Given the description of an element on the screen output the (x, y) to click on. 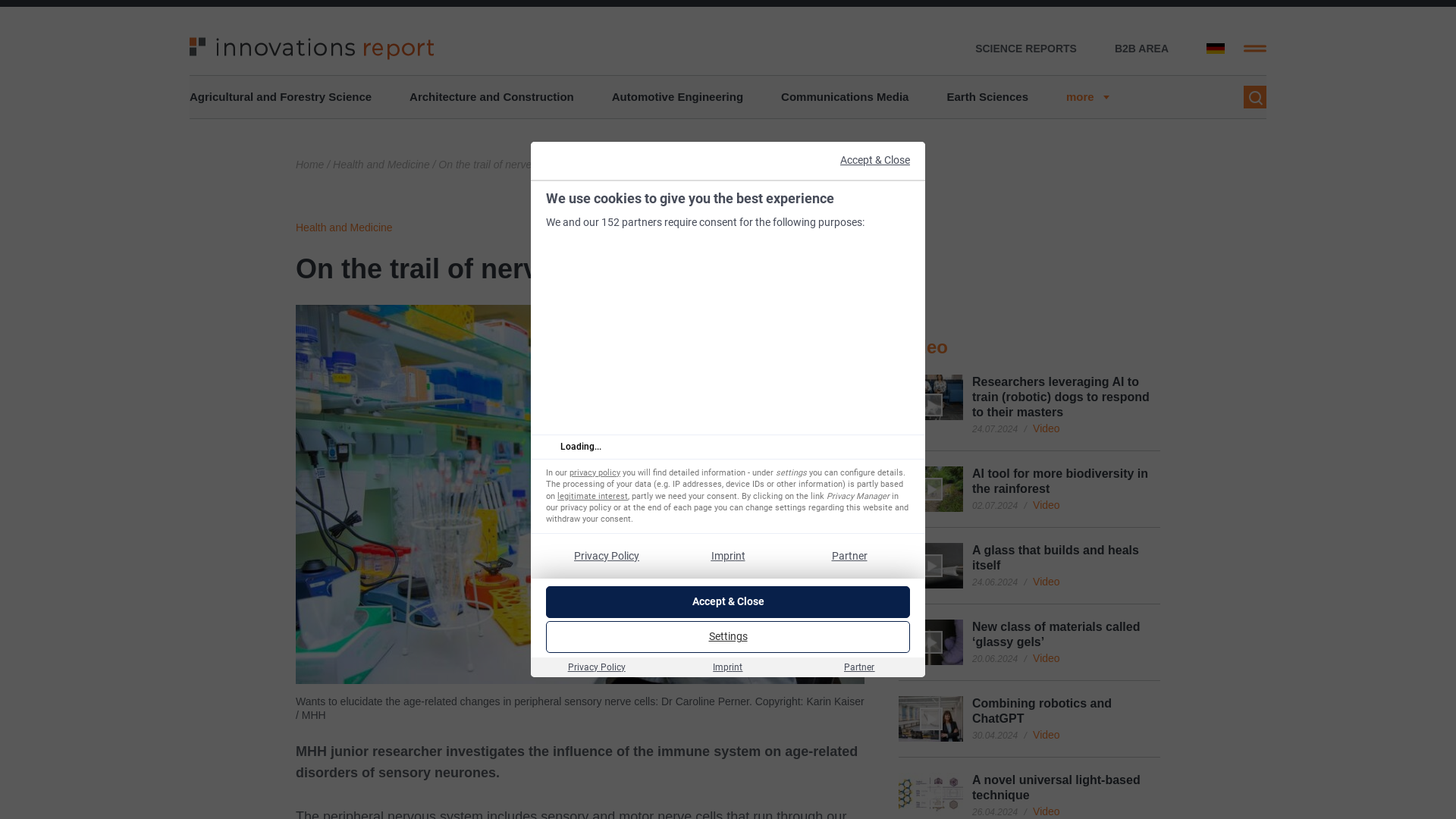
Earth Sciences (986, 96)
SCIENCE REPORTS (1026, 48)
Communications Media (844, 96)
Automotive Engineering (676, 96)
Architecture and Construction (491, 96)
B2B AREA (1142, 48)
Agricultural and Forestry Science (280, 96)
